Given the description of an element on the screen output the (x, y) to click on. 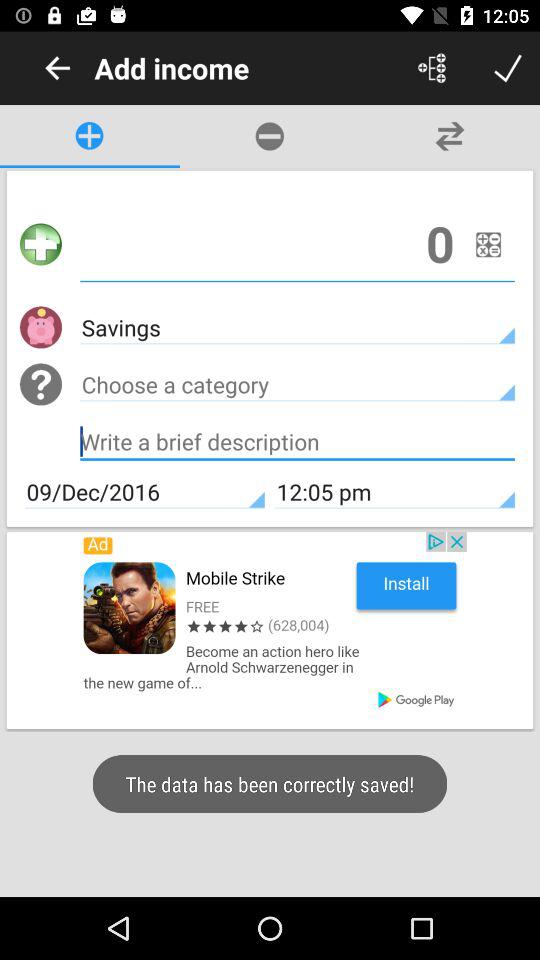
go back (57, 67)
